Given the description of an element on the screen output the (x, y) to click on. 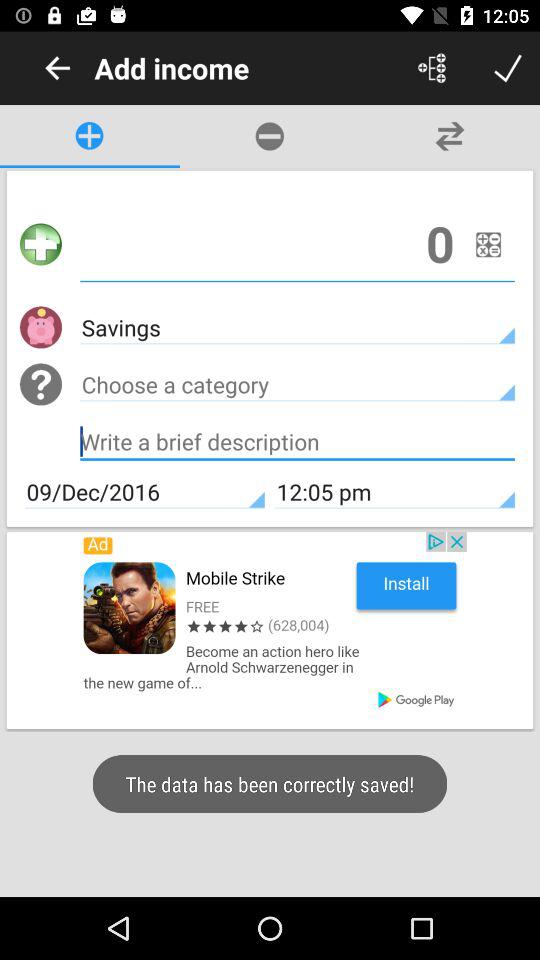
go back (57, 67)
